Given the description of an element on the screen output the (x, y) to click on. 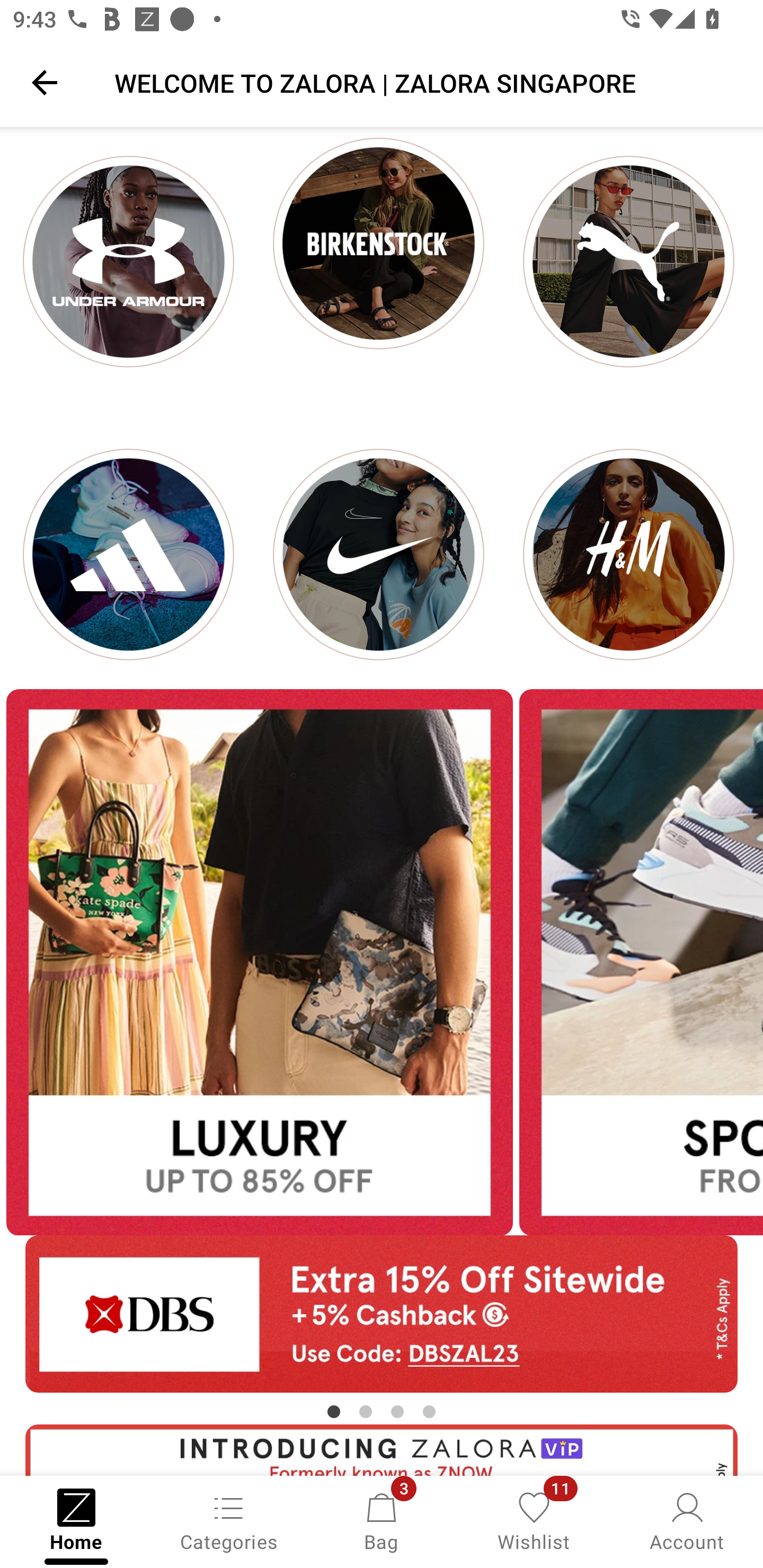
Navigate up (44, 82)
WELCOME TO ZALORA | ZALORA SINGAPORE (426, 82)
Campaign banner (128, 261)
Campaign banner (378, 261)
Campaign banner (628, 261)
Campaign banner (128, 554)
Campaign banner (378, 554)
Campaign banner (628, 554)
Campaign banner (259, 962)
Campaign banner (381, 1313)
Categories (228, 1519)
Bag, 3 new notifications Bag (381, 1519)
Wishlist, 11 new notifications Wishlist (533, 1519)
Account (686, 1519)
